Given the description of an element on the screen output the (x, y) to click on. 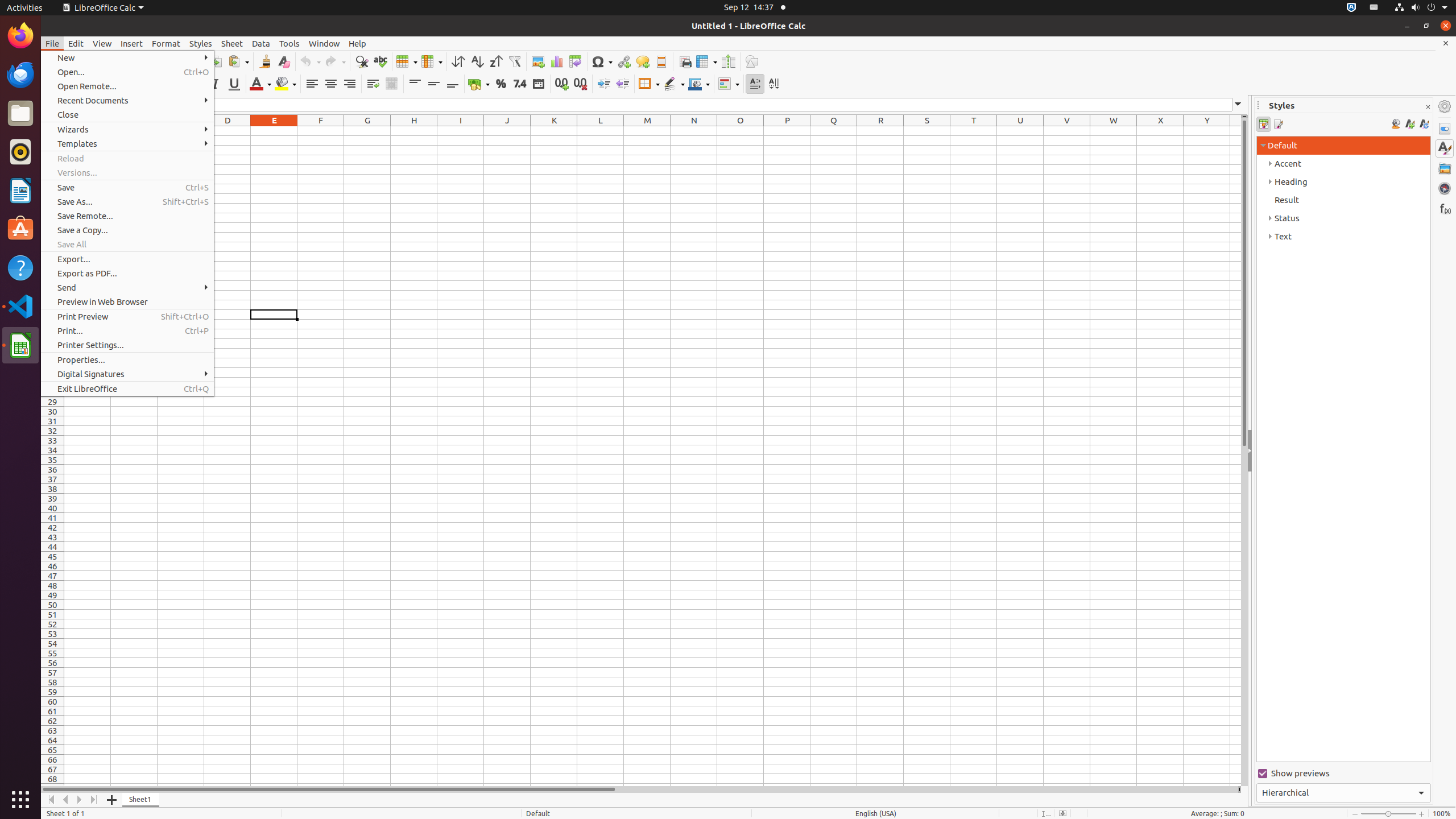
Recent Documents Element type: menu (126, 100)
Redo Element type: push-button (334, 61)
Comment Element type: push-button (642, 61)
Conditional Element type: push-button (728, 83)
Find & Replace Element type: toggle-button (361, 61)
